Given the description of an element on the screen output the (x, y) to click on. 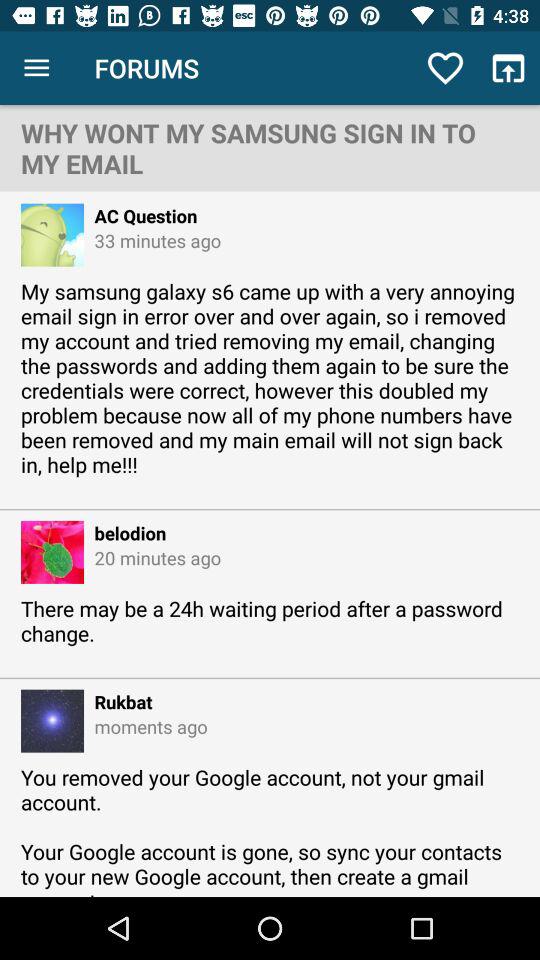
press the icon next to forums item (36, 68)
